Given the description of an element on the screen output the (x, y) to click on. 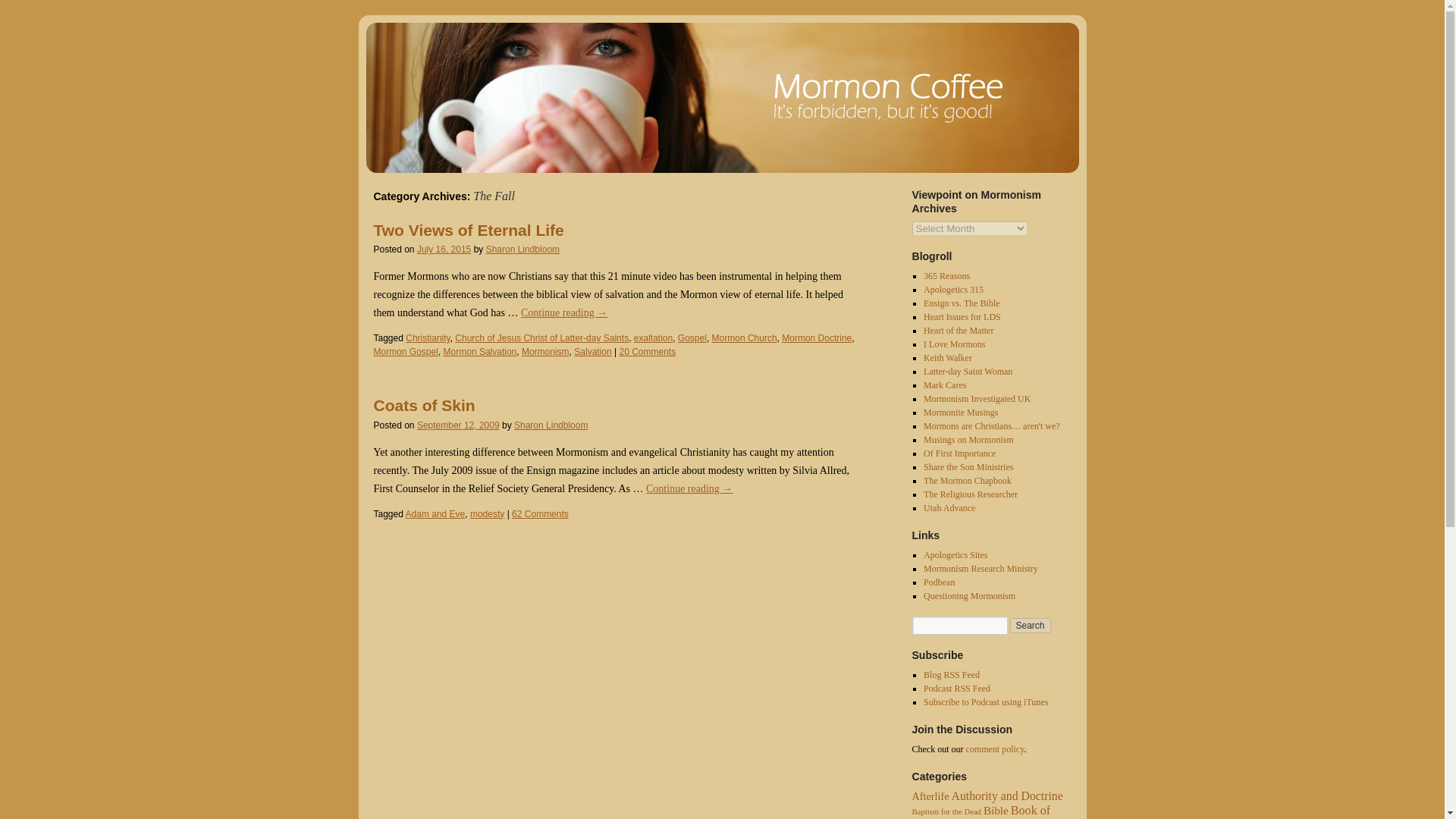
Sharon Lindbloom (550, 425)
Viewpoint on Mormonism shows on Podbean (939, 582)
20 Comments (646, 351)
Church of Jesus Christ of Latter-day Saints (541, 337)
62 Comments (540, 513)
Two Views of Eternal Life (467, 230)
July 16, 2015 (443, 249)
Search (1030, 625)
Coats of Skin (423, 405)
Mormon Church (744, 337)
Mormon Gospel (405, 351)
View all posts by Sharon Lindbloom (550, 425)
modesty (486, 513)
exaltation (652, 337)
Ensign vs. The Bible (960, 303)
